Given the description of an element on the screen output the (x, y) to click on. 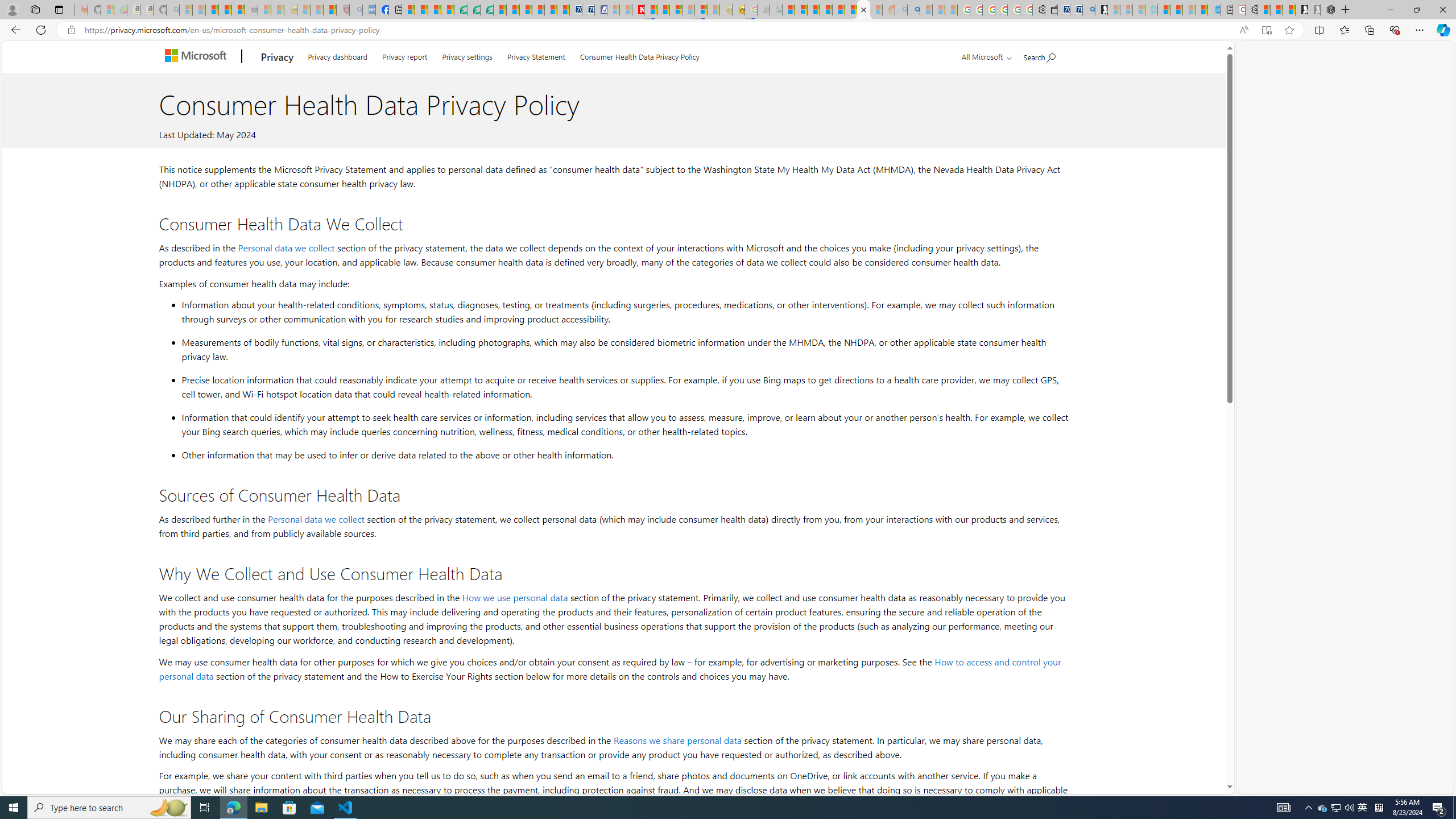
Consumer Health Data Privacy Policy (639, 54)
14 Common Myths Debunked By Scientific Facts (663, 9)
Kinda Frugal - MSN (850, 9)
Privacy Statement (535, 54)
